Given the description of an element on the screen output the (x, y) to click on. 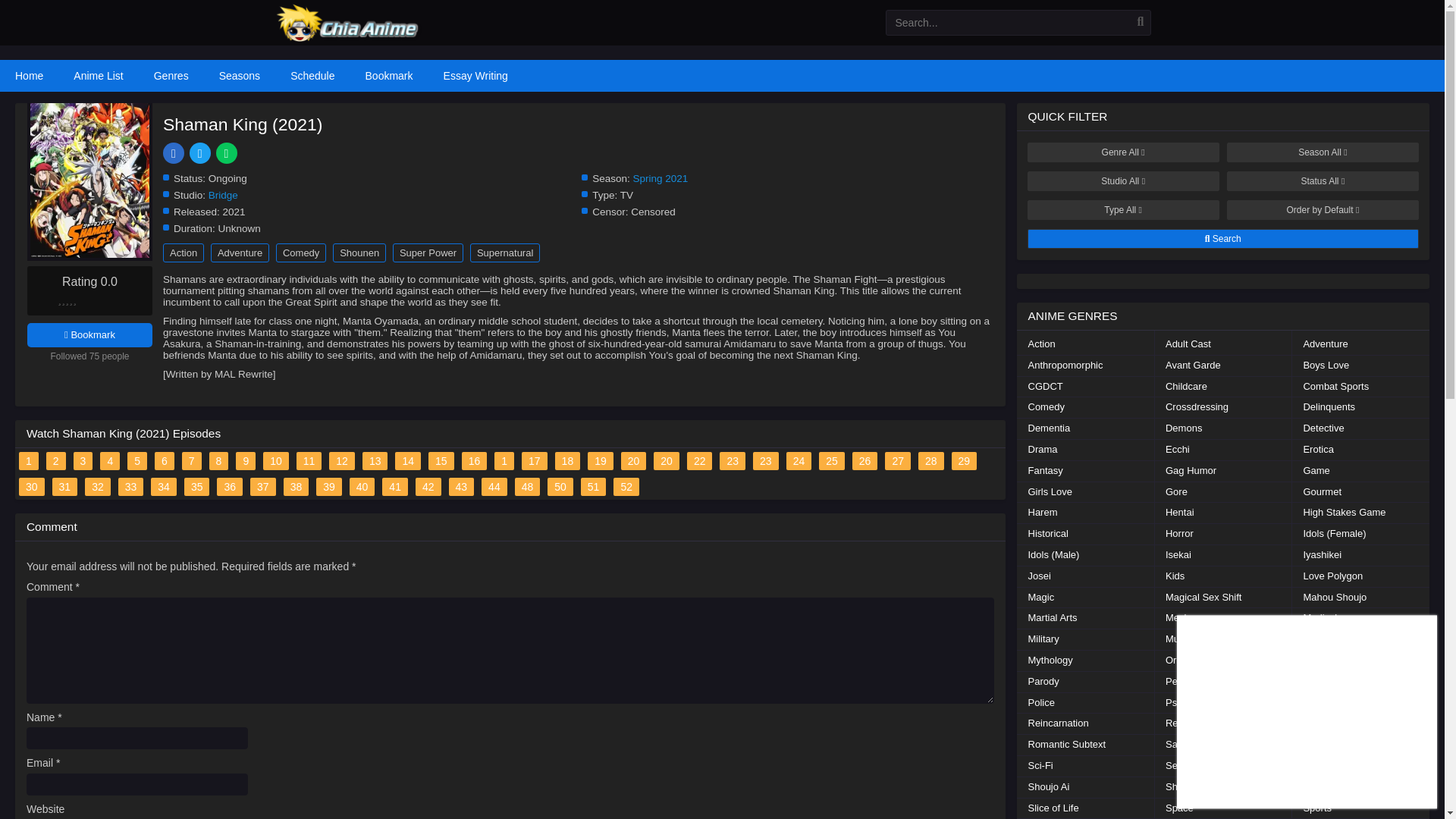
Super Power (428, 252)
Adventure (240, 252)
10 (275, 460)
Spring 2021 (660, 178)
Action (183, 252)
View all series in Delinquents (1329, 407)
15 (440, 460)
View all series in Demons (1183, 428)
View all series in Detective (1323, 428)
View all series in Comedy (1045, 407)
Essay Writing (475, 75)
View all series in Crossdressing (1197, 407)
Home (28, 75)
View all series in Anthropomorphic (1064, 365)
View all series in Adventure (1324, 344)
